Given the description of an element on the screen output the (x, y) to click on. 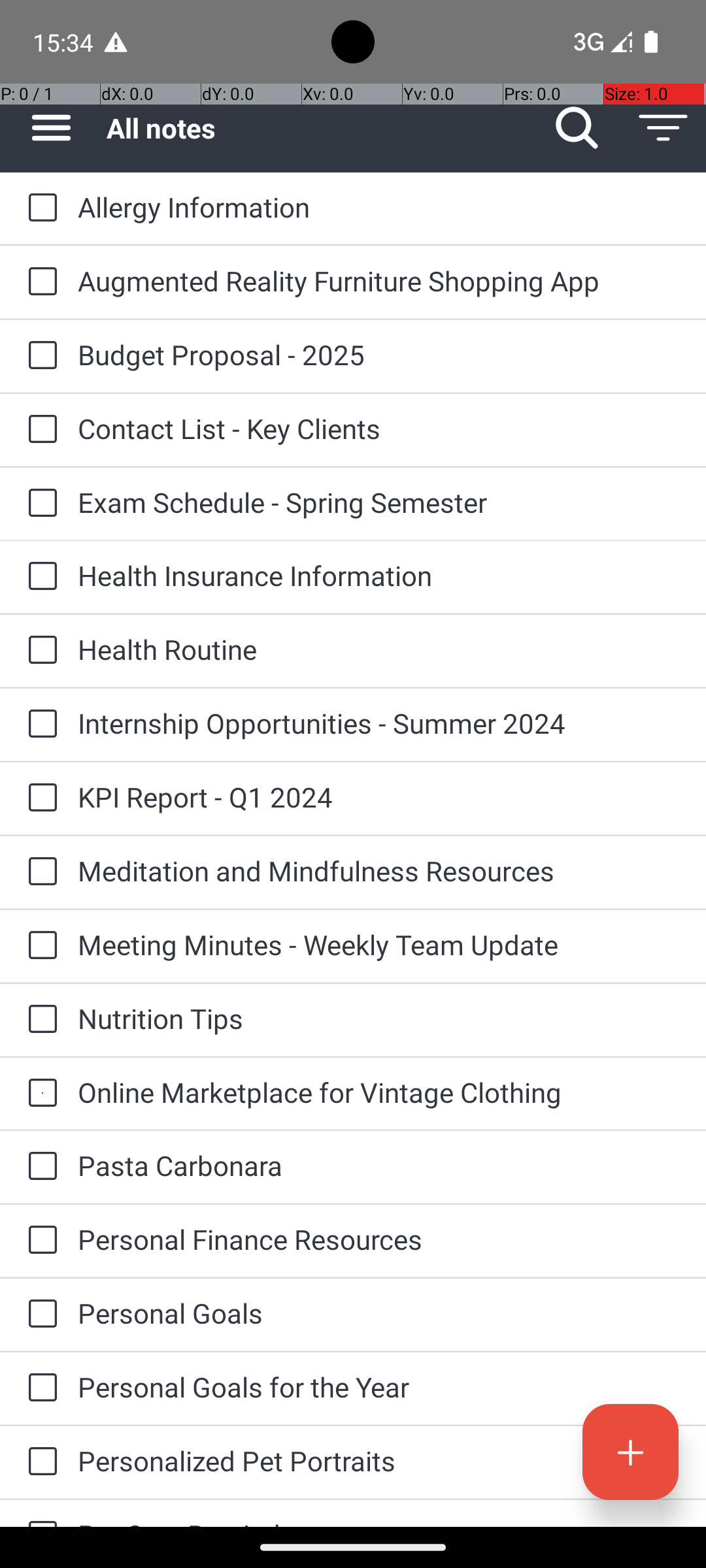
to-do: Allergy Information Element type: android.widget.CheckBox (38, 208)
Allergy Information Element type: android.widget.TextView (378, 206)
to-do: Augmented Reality Furniture Shopping App Element type: android.widget.CheckBox (38, 282)
Augmented Reality Furniture Shopping App Element type: android.widget.TextView (378, 280)
to-do: Budget Proposal - 2025 Element type: android.widget.CheckBox (38, 356)
Budget Proposal - 2025 Element type: android.widget.TextView (378, 354)
to-do: Contact List - Key Clients Element type: android.widget.CheckBox (38, 429)
Contact List - Key Clients Element type: android.widget.TextView (378, 427)
to-do: Exam Schedule - Spring Semester Element type: android.widget.CheckBox (38, 503)
Exam Schedule - Spring Semester Element type: android.widget.TextView (378, 501)
to-do: Health Insurance Information Element type: android.widget.CheckBox (38, 576)
Health Insurance Information Element type: android.widget.TextView (378, 574)
to-do: Health Routine Element type: android.widget.CheckBox (38, 650)
Health Routine Element type: android.widget.TextView (378, 648)
to-do: Internship Opportunities - Summer 2024 Element type: android.widget.CheckBox (38, 724)
Internship Opportunities - Summer 2024 Element type: android.widget.TextView (378, 722)
to-do: KPI Report - Q1 2024 Element type: android.widget.CheckBox (38, 798)
KPI Report - Q1 2024 Element type: android.widget.TextView (378, 796)
to-do: Meditation and Mindfulness Resources Element type: android.widget.CheckBox (38, 872)
Meditation and Mindfulness Resources Element type: android.widget.TextView (378, 870)
to-do: Meeting Minutes - Weekly Team Update Element type: android.widget.CheckBox (38, 945)
Meeting Minutes - Weekly Team Update Element type: android.widget.TextView (378, 944)
to-do: Nutrition Tips Element type: android.widget.CheckBox (38, 1019)
Nutrition Tips Element type: android.widget.TextView (378, 1017)
to-do: Online Marketplace for Vintage Clothing Element type: android.widget.CheckBox (38, 1093)
Online Marketplace for Vintage Clothing Element type: android.widget.TextView (378, 1091)
to-do: Pasta Carbonara Element type: android.widget.CheckBox (38, 1166)
Pasta Carbonara Element type: android.widget.TextView (378, 1164)
to-do: Personal Finance Resources Element type: android.widget.CheckBox (38, 1240)
Personal Finance Resources Element type: android.widget.TextView (378, 1238)
to-do: Personal Goals Element type: android.widget.CheckBox (38, 1314)
Personal Goals Element type: android.widget.TextView (378, 1312)
to-do: Personal Goals for the Year Element type: android.widget.CheckBox (38, 1388)
Personal Goals for the Year Element type: android.widget.TextView (378, 1386)
to-do: Personalized Pet Portraits Element type: android.widget.CheckBox (38, 1462)
Personalized Pet Portraits Element type: android.widget.TextView (378, 1460)
to-do: Pet Care Reminders Element type: android.widget.CheckBox (38, 1513)
Pet Care Reminders Element type: android.widget.TextView (378, 1520)
